Given the description of an element on the screen output the (x, y) to click on. 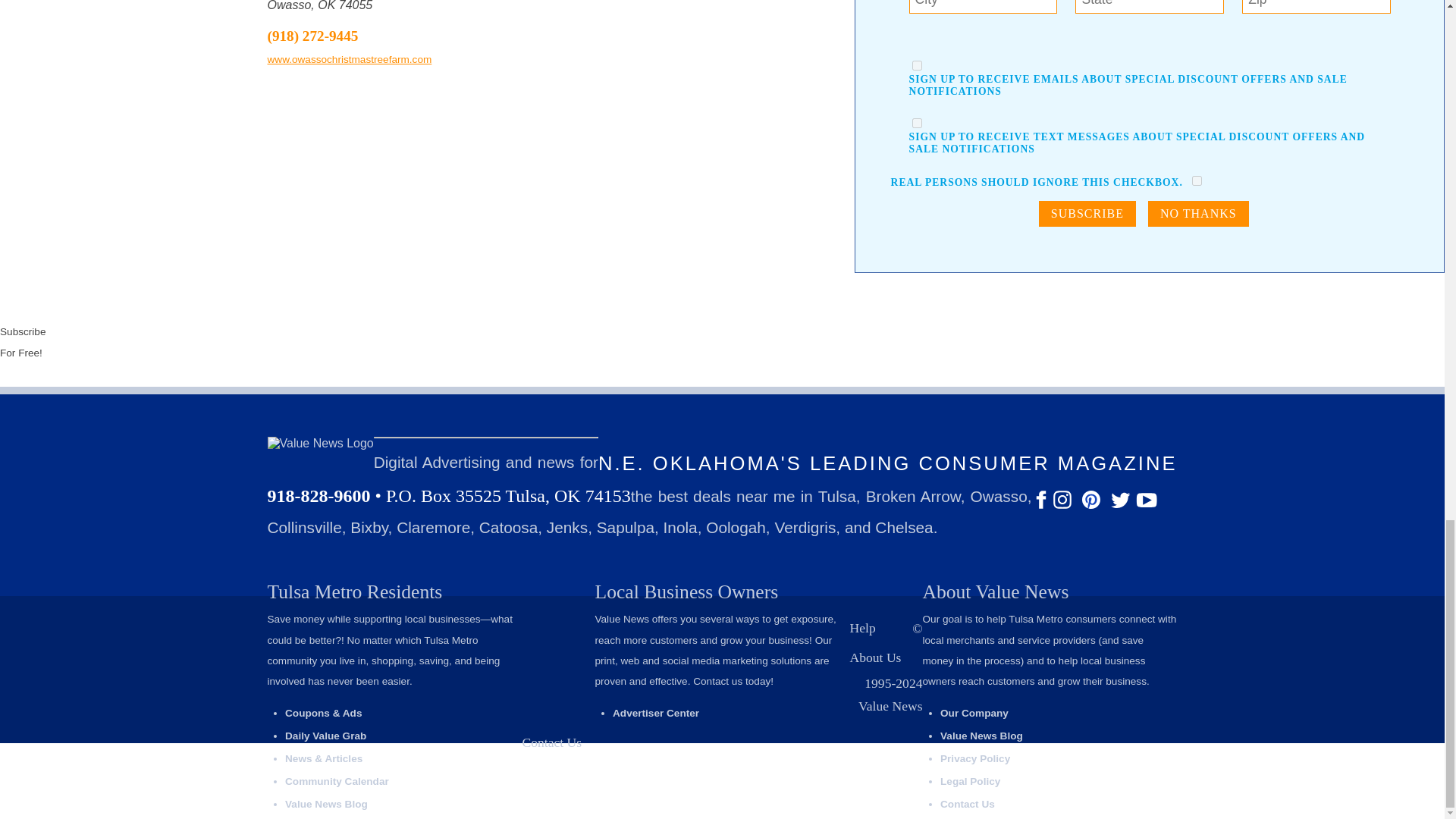
Visit the Value News Facebook page. (1041, 505)
Visit the Value News Pinterest page. (1092, 505)
Subscribe (1087, 213)
www.owassochristmastreefarm.com (348, 59)
No Thanks (1198, 213)
1 (916, 122)
1 (916, 65)
Subscribe (1087, 213)
Visit the Value News Instagram page. (1063, 505)
1 (1197, 180)
